Given the description of an element on the screen output the (x, y) to click on. 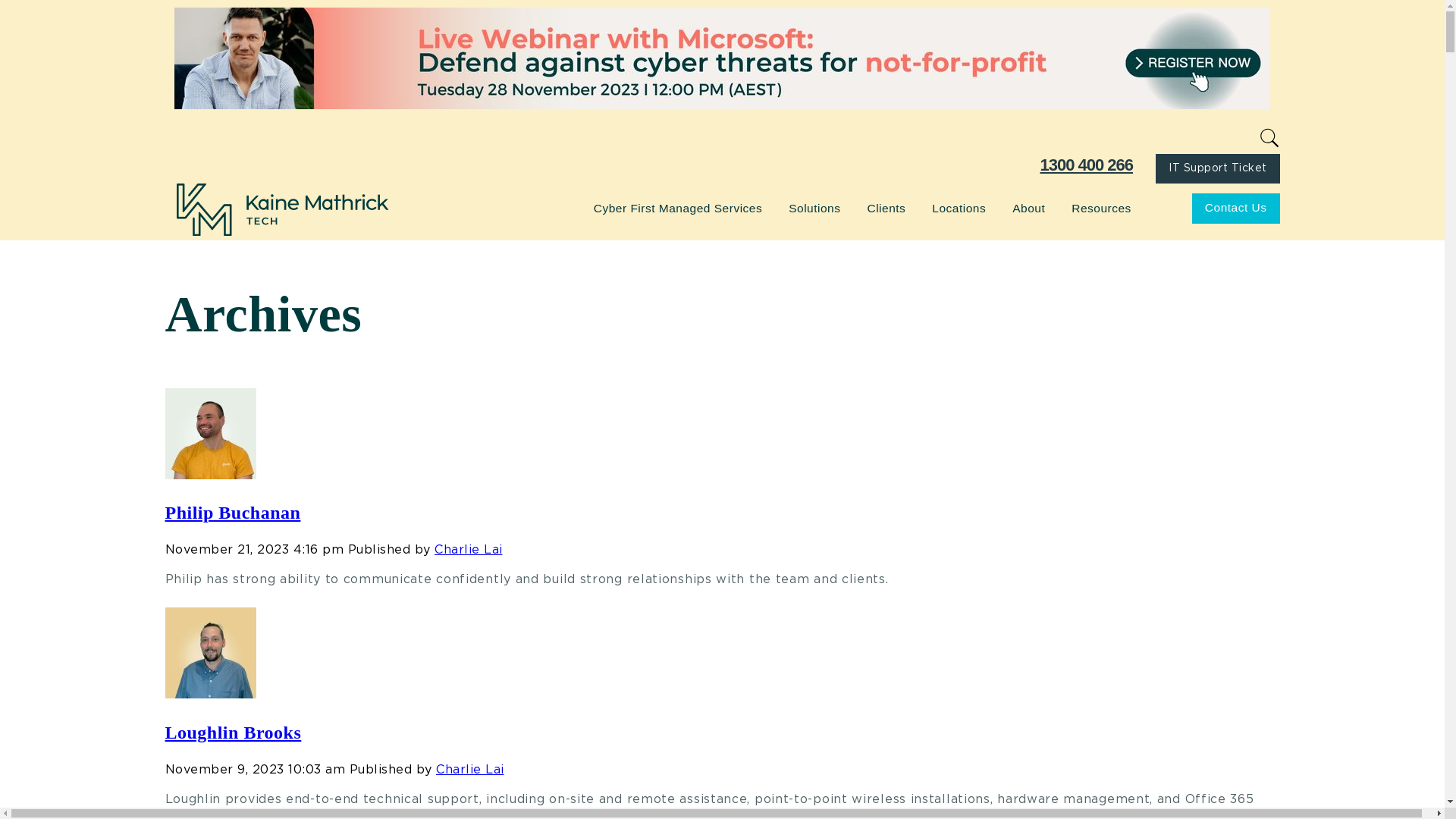
Charlie Lai Element type: text (468, 549)
About Element type: text (1030, 207)
Solutions Element type: text (816, 207)
Contact Us Element type: text (1236, 208)
Philip Buchanan Element type: hover (210, 475)
Search Element type: text (15, 8)
Loughlin Brooks Element type: text (233, 732)
Locations Element type: text (960, 207)
1300 400 266 Element type: text (1085, 164)
Loughlin Brooks Element type: hover (210, 694)
IT Support Ticket Element type: text (1217, 168)
Clients Element type: text (887, 207)
Resources Element type: text (1103, 207)
Philip Buchanan Element type: text (233, 512)
Cyber First Managed Services Element type: text (679, 207)
Charlie Lai Element type: text (470, 769)
